Given the description of an element on the screen output the (x, y) to click on. 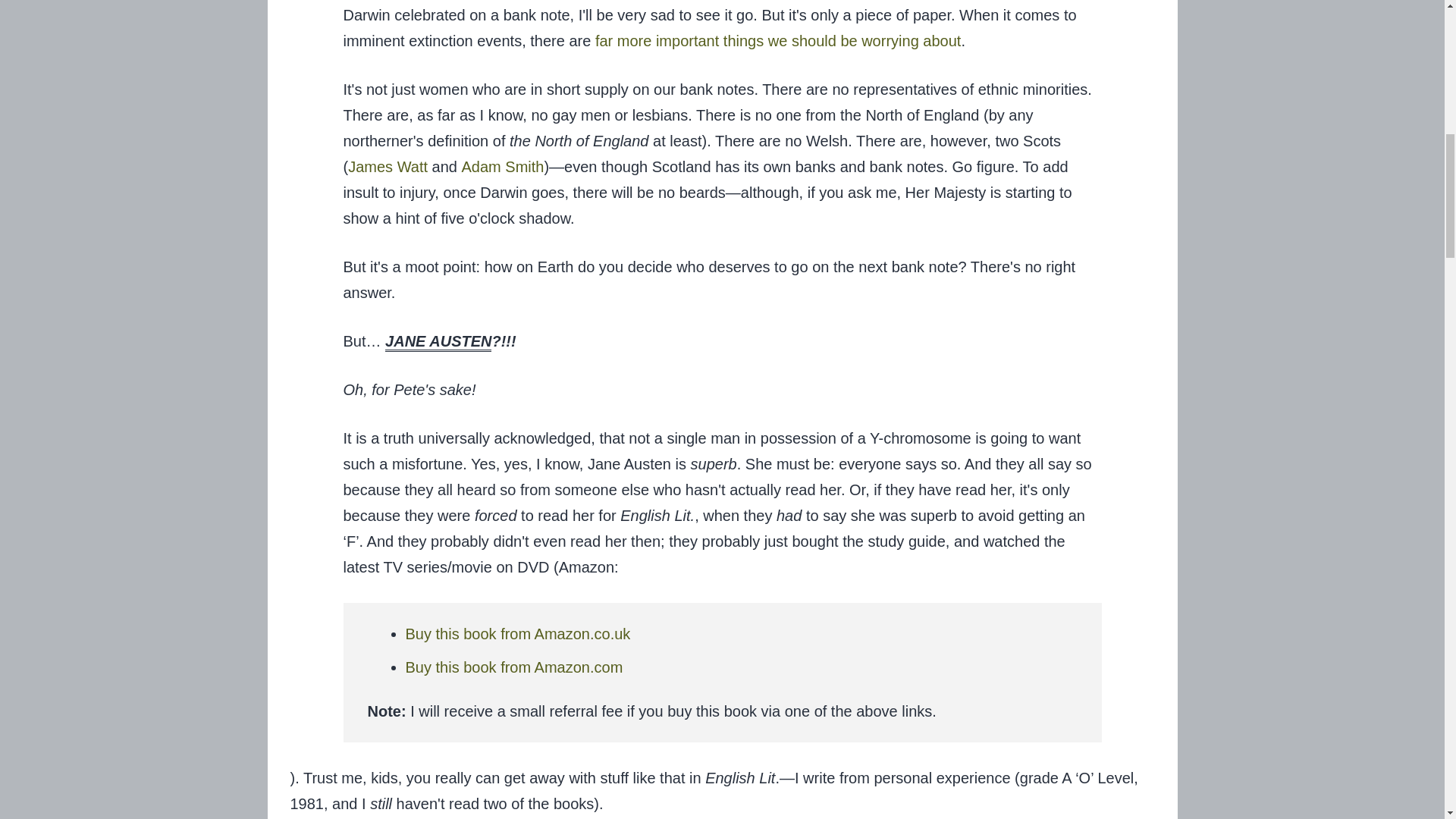
Buy this book from Amazon.co.uk (517, 633)
James Watt (387, 166)
Wikipedia: Adam Smith (502, 166)
Adam Smith (502, 166)
Buy this book from Amazon.com (513, 667)
Wikipedia: IUCN Red List (777, 40)
Wikipedia: James Watt (387, 166)
far more important things we should be worrying about (777, 40)
